Given the description of an element on the screen output the (x, y) to click on. 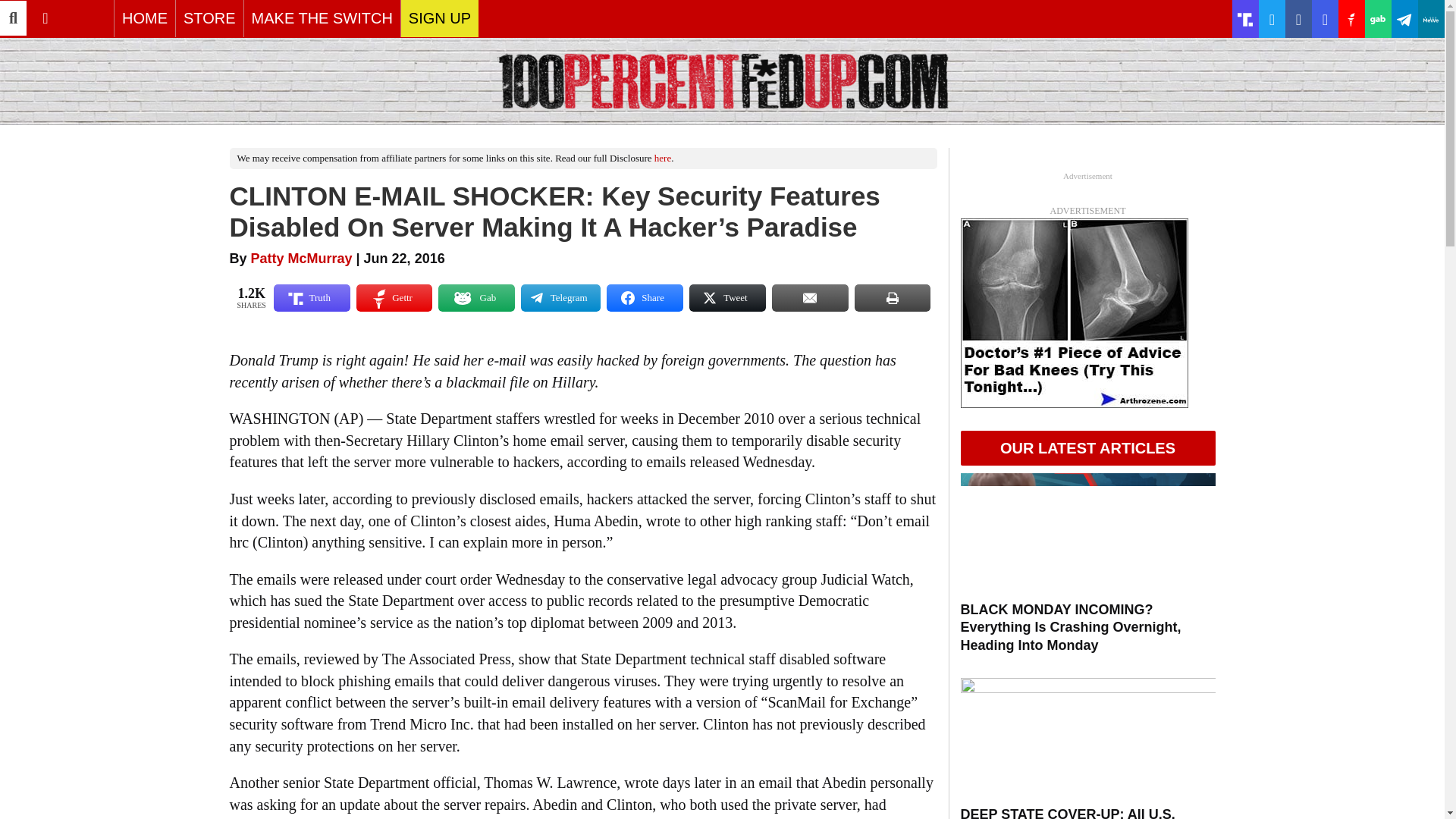
Truth (311, 298)
Share on Share (644, 298)
Telegram (560, 298)
Share on Gettr (394, 298)
Share (644, 298)
Gettr (394, 298)
HOME (144, 18)
Tweet (726, 298)
Share on Gab (476, 298)
Patty McMurray (301, 258)
Share on Telegram (560, 298)
Share on Tweet (726, 298)
MAKE THE SWITCH (322, 18)
